Given the description of an element on the screen output the (x, y) to click on. 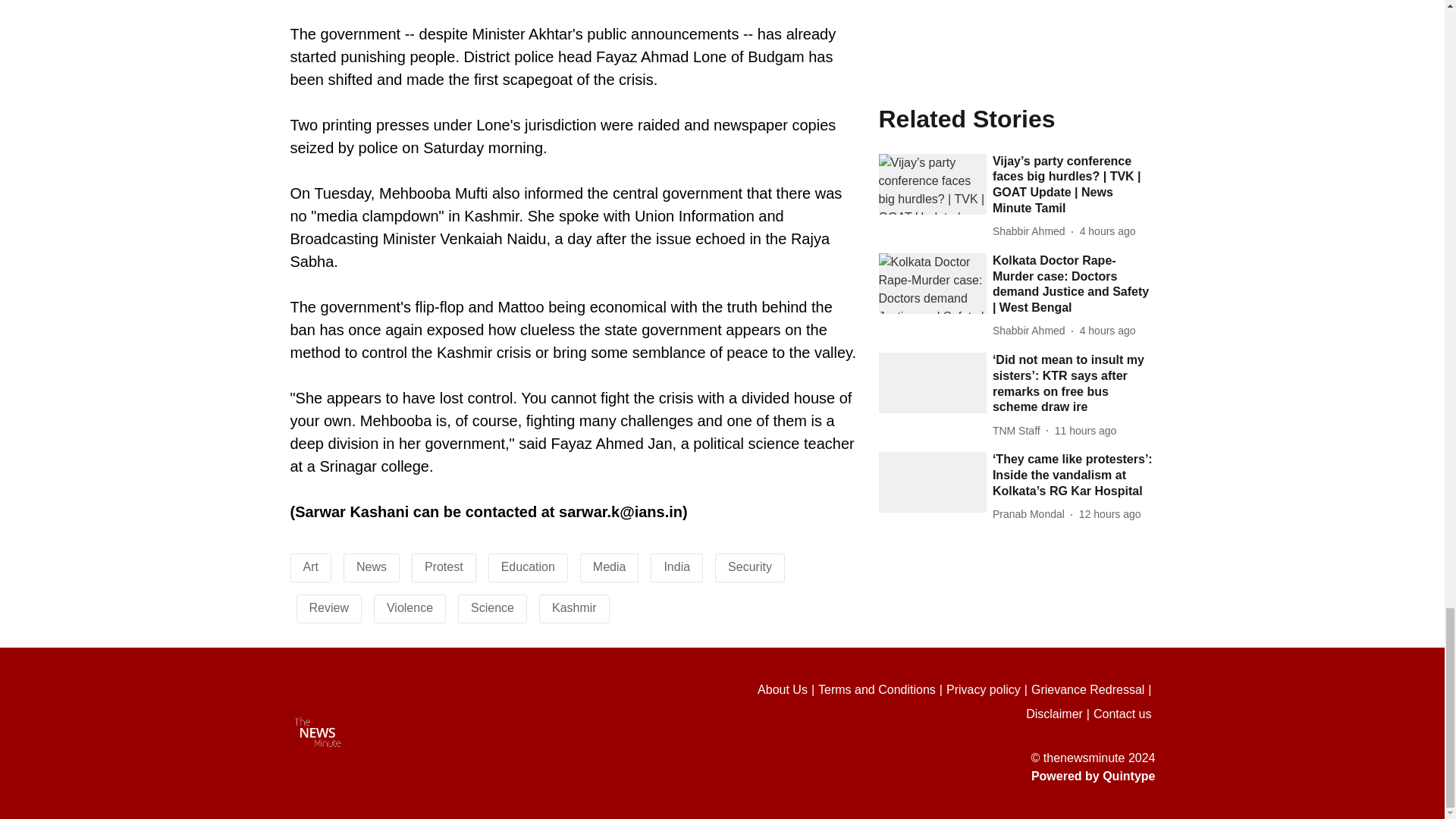
Science (491, 607)
Protest (444, 566)
Education (527, 566)
Media (609, 566)
India (676, 566)
Violence (409, 607)
Kashmir (573, 607)
Art (310, 566)
Security (749, 566)
Review (328, 607)
